Given the description of an element on the screen output the (x, y) to click on. 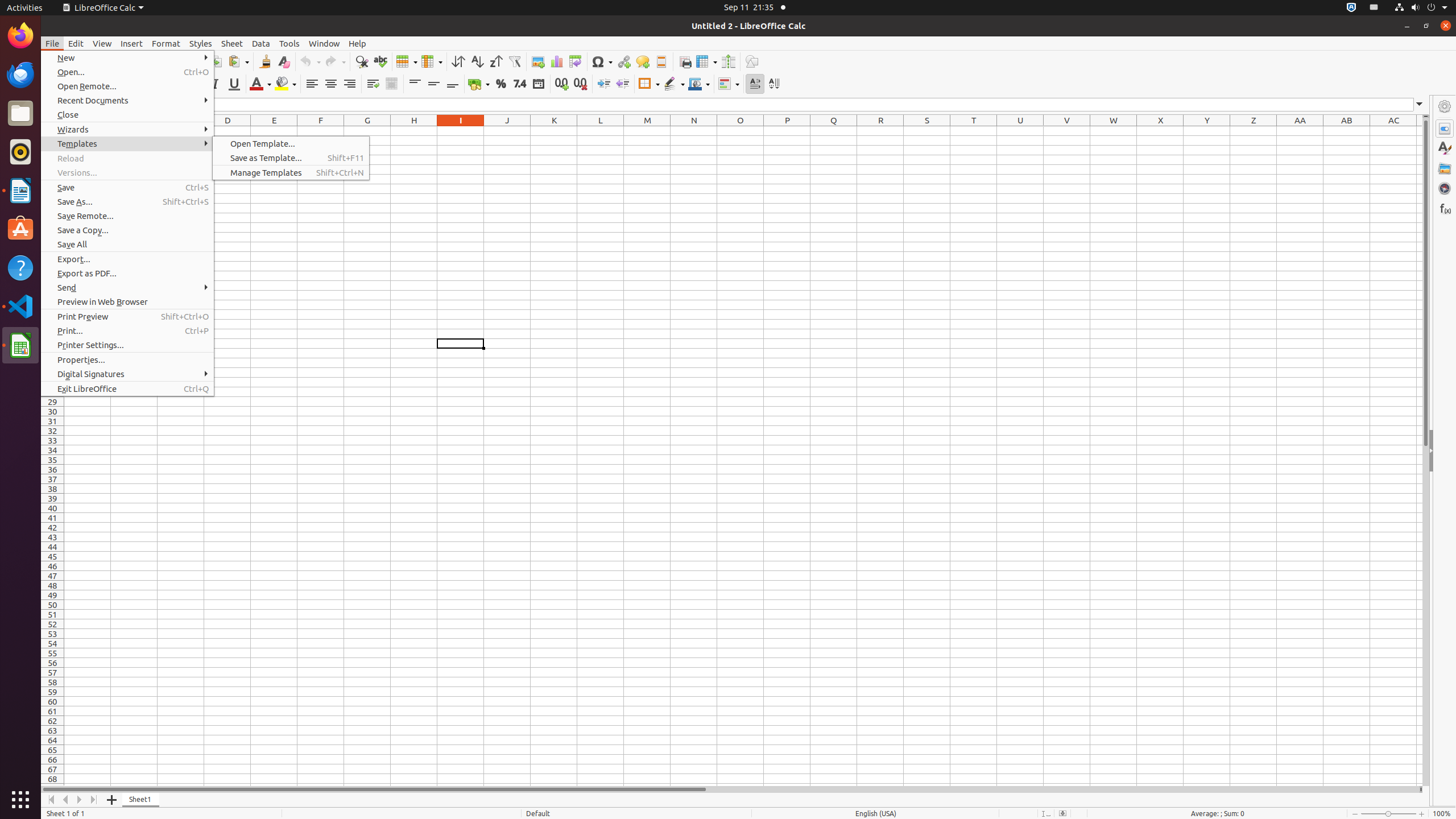
Find & Replace Element type: toggle-button (361, 61)
Edit Element type: menu (75, 43)
K1 Element type: table-cell (553, 130)
Align Bottom Element type: push-button (452, 83)
Percent Element type: push-button (500, 83)
